Given the description of an element on the screen output the (x, y) to click on. 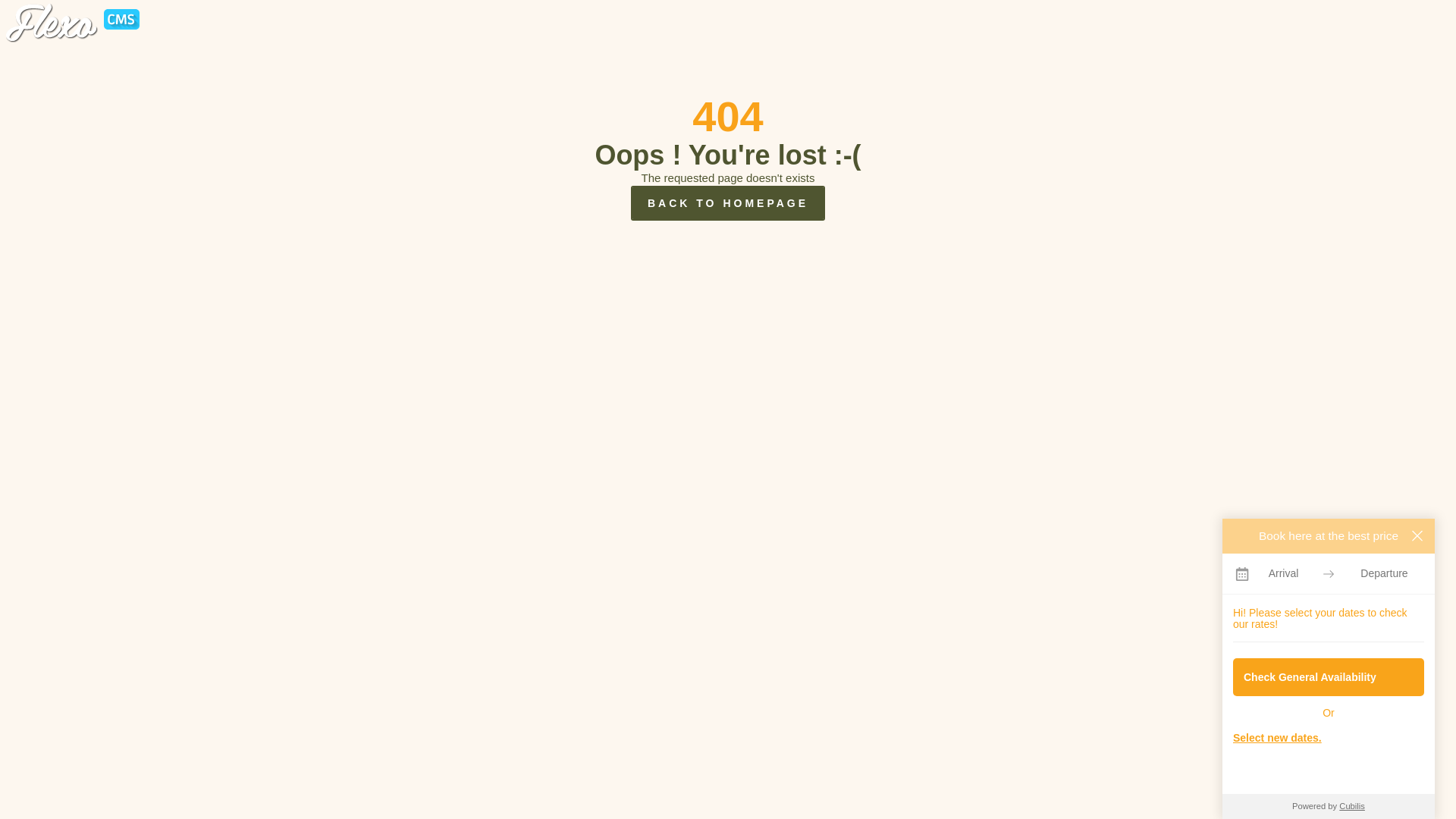
Cubilis Element type: text (1352, 805)
BACK TO HOMEPAGE Element type: text (727, 202)
Check General Availability Element type: text (1328, 677)
Select new dates. Element type: text (1328, 737)
